Given the description of an element on the screen output the (x, y) to click on. 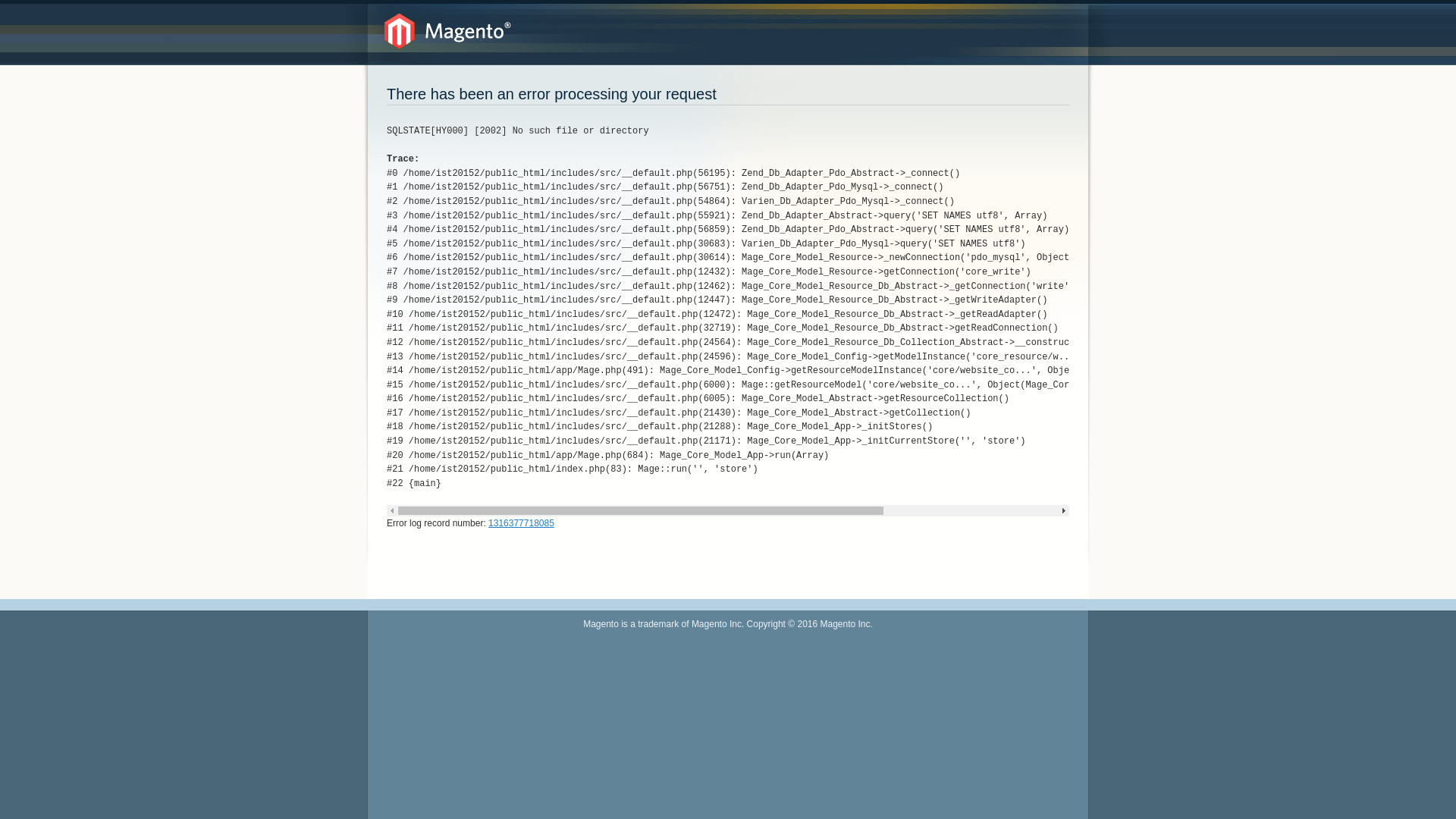
Magento Commerce Element type: hover (447, 31)
1316377718085 Element type: text (521, 522)
